Given the description of an element on the screen output the (x, y) to click on. 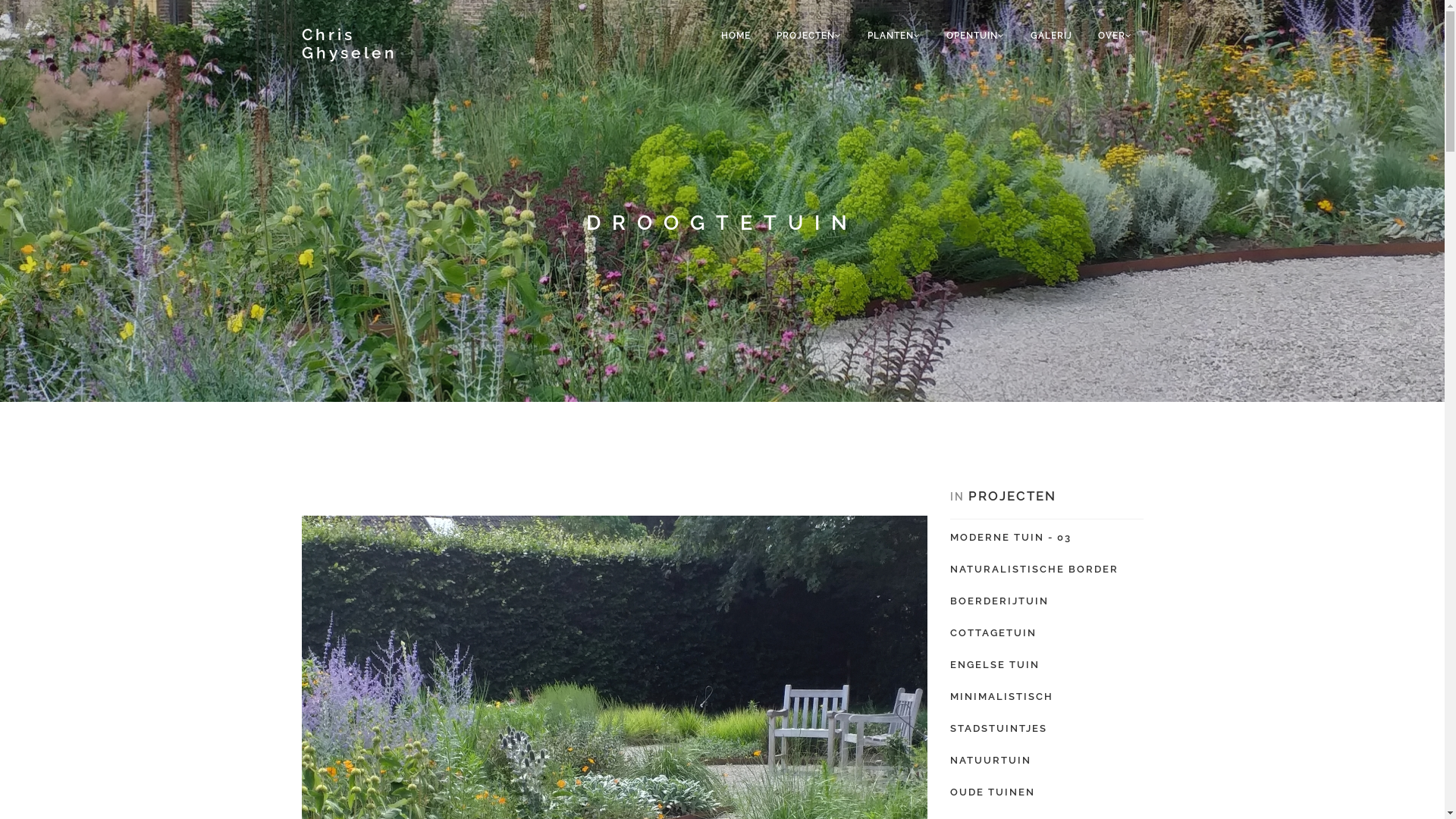
PLANTEN Element type: text (893, 35)
MINIMALISTISCH Element type: text (1000, 696)
COTTAGETUIN Element type: text (992, 632)
OPENTUIN Element type: text (974, 35)
NATUURTUIN Element type: text (989, 759)
ENGELSE TUIN Element type: text (993, 664)
GALERIJ Element type: text (1051, 35)
PROJECTEN Element type: text (808, 35)
NATURALISTISCHE BORDER Element type: text (1033, 568)
BOERDERIJTUIN Element type: text (998, 600)
STADSTUINTJES Element type: text (997, 727)
Chris Ghyselen Element type: text (377, 43)
OVER Element type: text (1113, 35)
MODERNE TUIN - 03 Element type: text (1009, 536)
OUDE TUINEN Element type: text (991, 791)
HOME Element type: text (735, 35)
